Given the description of an element on the screen output the (x, y) to click on. 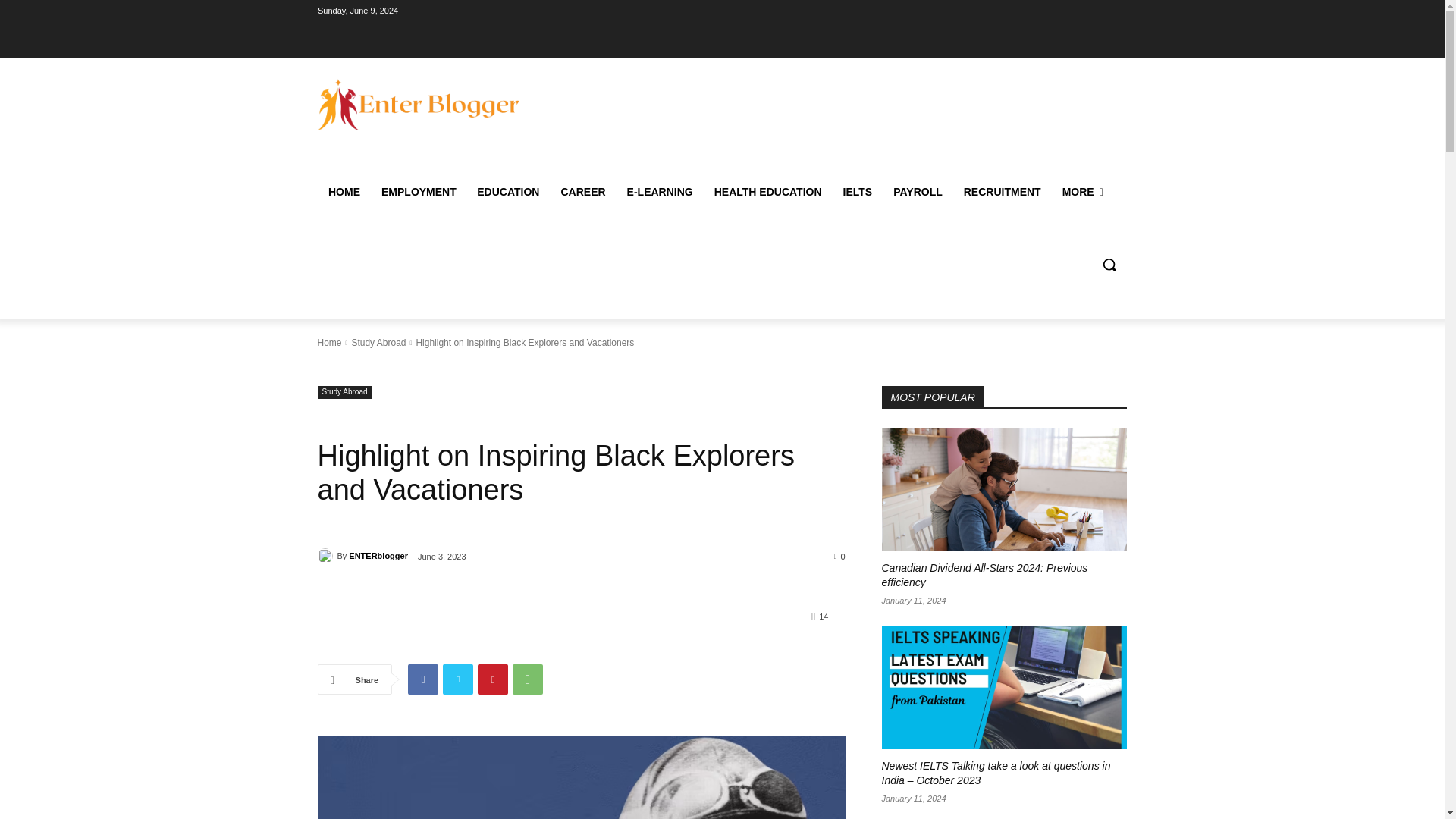
HOME (343, 191)
EMPLOYMENT (417, 191)
WhatsApp (527, 679)
Twitter (457, 679)
ENTERblogger (326, 555)
Pinterest (492, 679)
Facebook (422, 679)
View all posts in Study Abroad (378, 342)
